Given the description of an element on the screen output the (x, y) to click on. 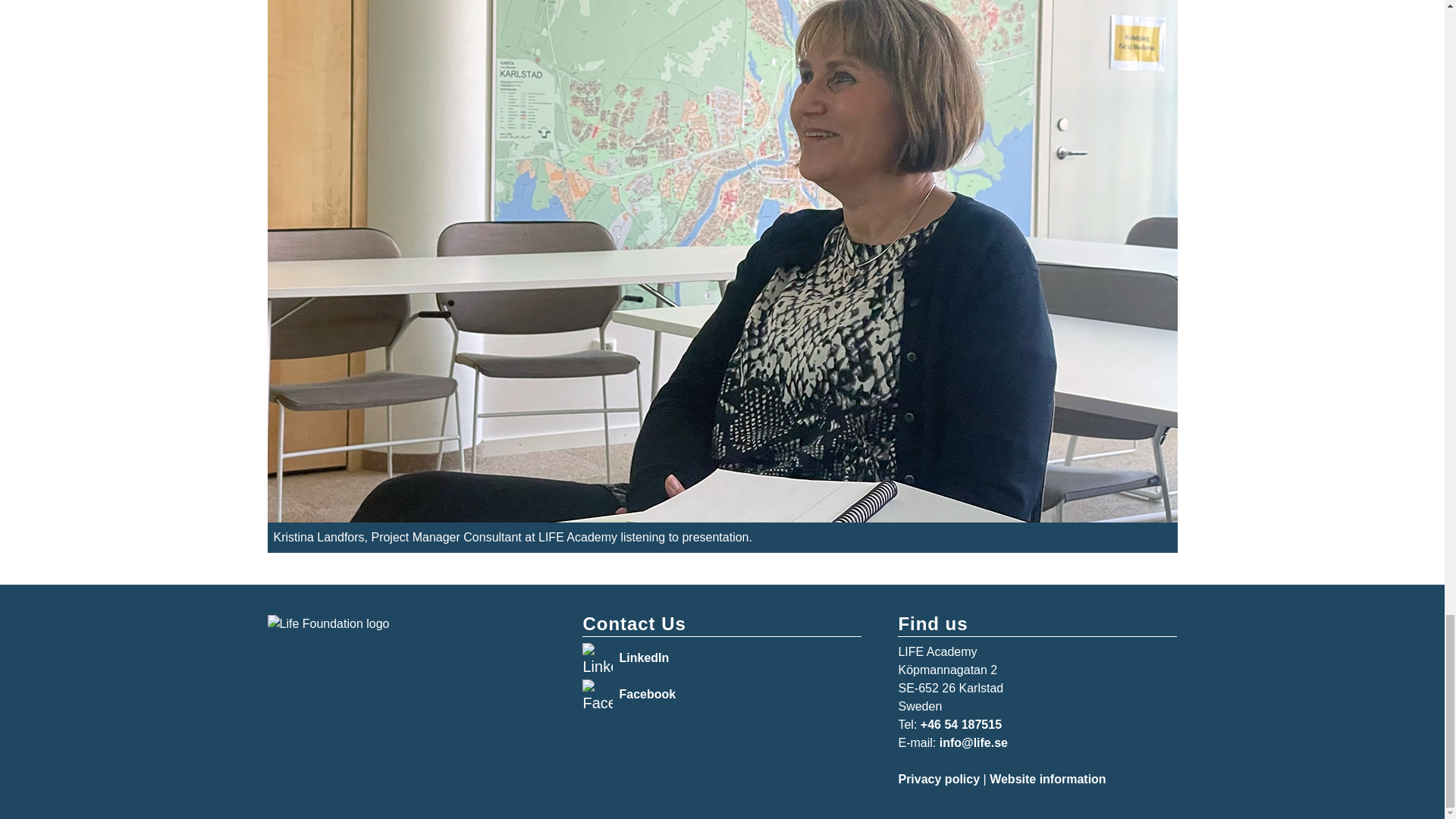
Linkedin (597, 694)
LinkedIn (643, 657)
Facebook (646, 694)
Website information (1048, 779)
Linkedin (597, 657)
Privacy policy (938, 779)
